Given the description of an element on the screen output the (x, y) to click on. 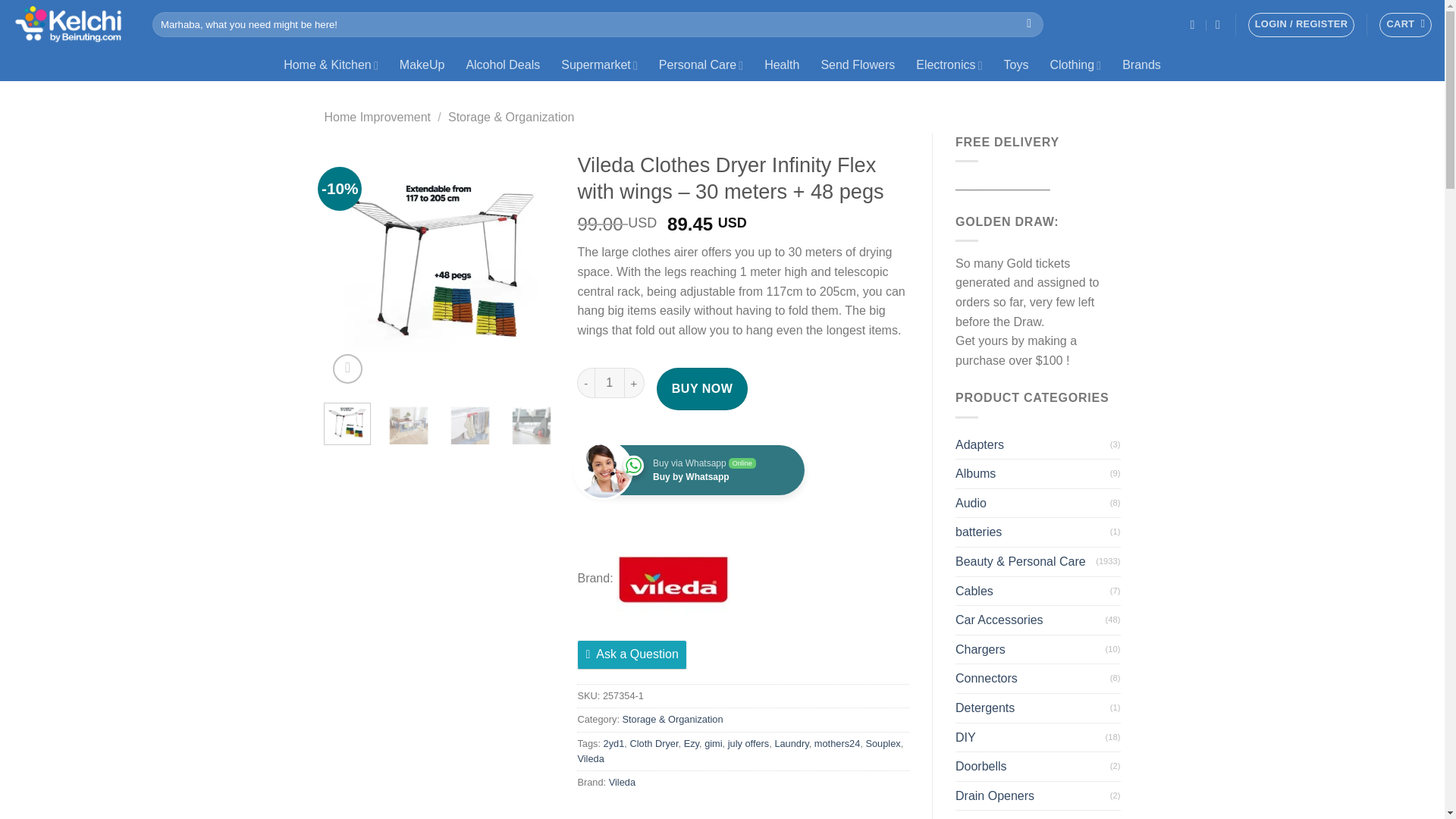
Zoom (347, 368)
Login (1301, 24)
Alcohol Deals (502, 65)
1 (609, 382)
MakeUp (421, 65)
Personal Care (700, 65)
Cart (1404, 24)
Supermarket (598, 65)
Search (1029, 24)
